Given the description of an element on the screen output the (x, y) to click on. 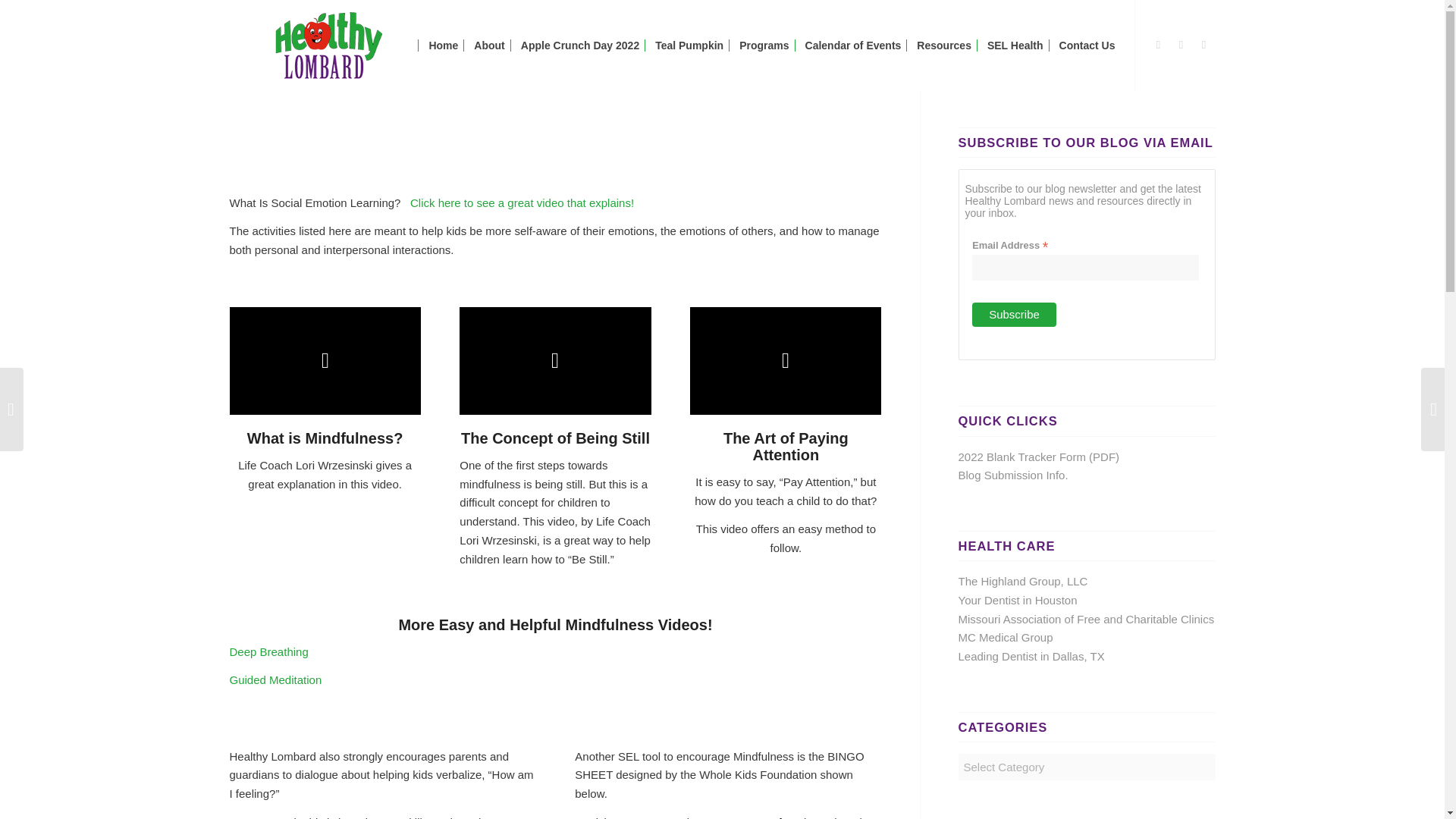
Your Dentist in Houston (1017, 599)
Teal Pumpkin (688, 45)
Youtube (1203, 44)
Leading Dentist in Dallas, TX (1031, 656)
Calendar of Events (852, 45)
Apple Crunch Day 2022 (579, 45)
Subscribe (1014, 314)
MC Medical Group (1005, 636)
Missouri Association of Free and Charitable Clinics (1086, 618)
The Highland Group, LLC  (1022, 581)
